Given the description of an element on the screen output the (x, y) to click on. 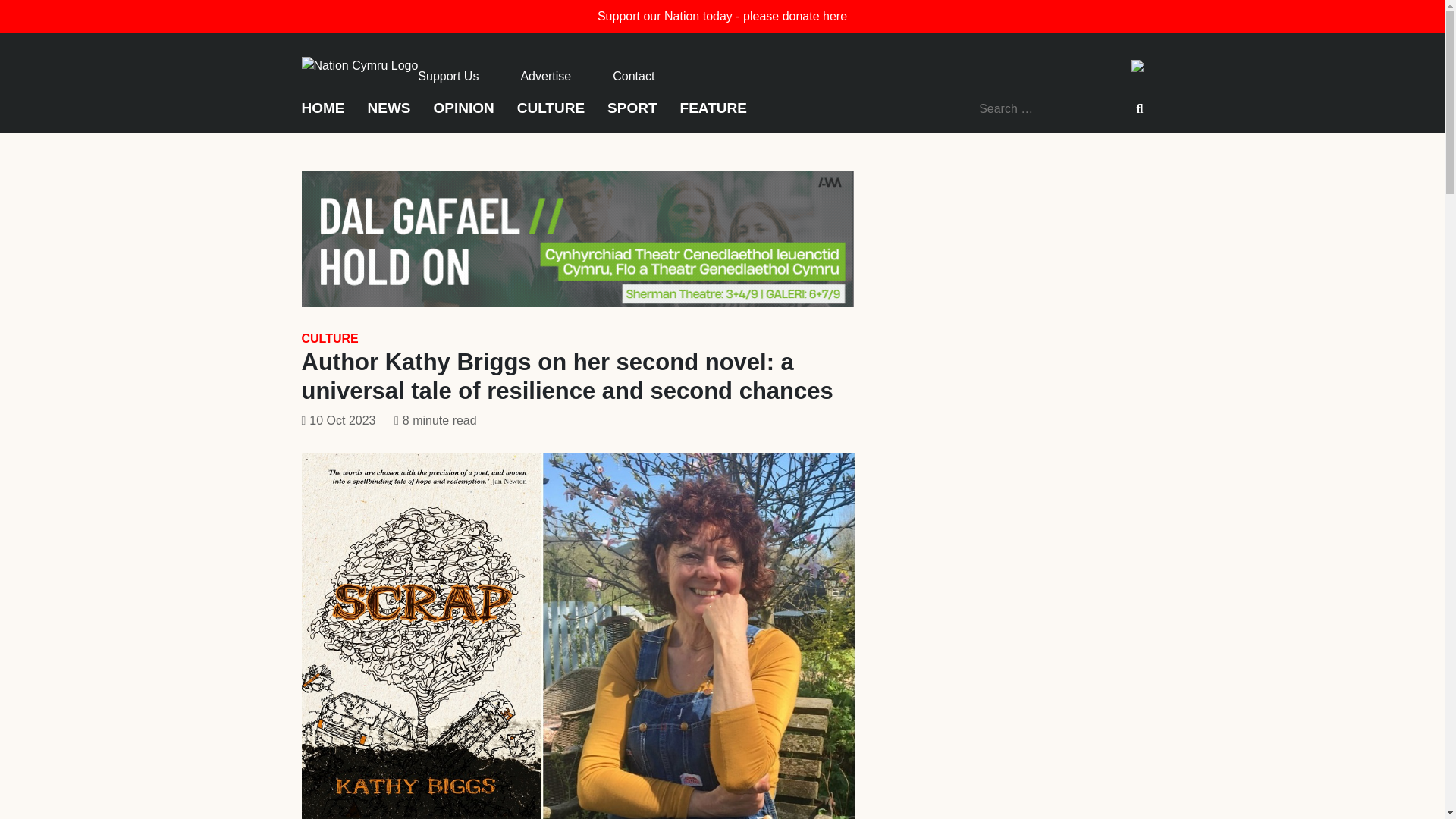
FEATURE (712, 114)
home (360, 64)
NEWS (388, 114)
SPORT (631, 114)
Contact (632, 75)
Advertise (544, 75)
CULTURE (550, 114)
Support Us (448, 75)
OPINION (464, 114)
HOME (323, 114)
